Given the description of an element on the screen output the (x, y) to click on. 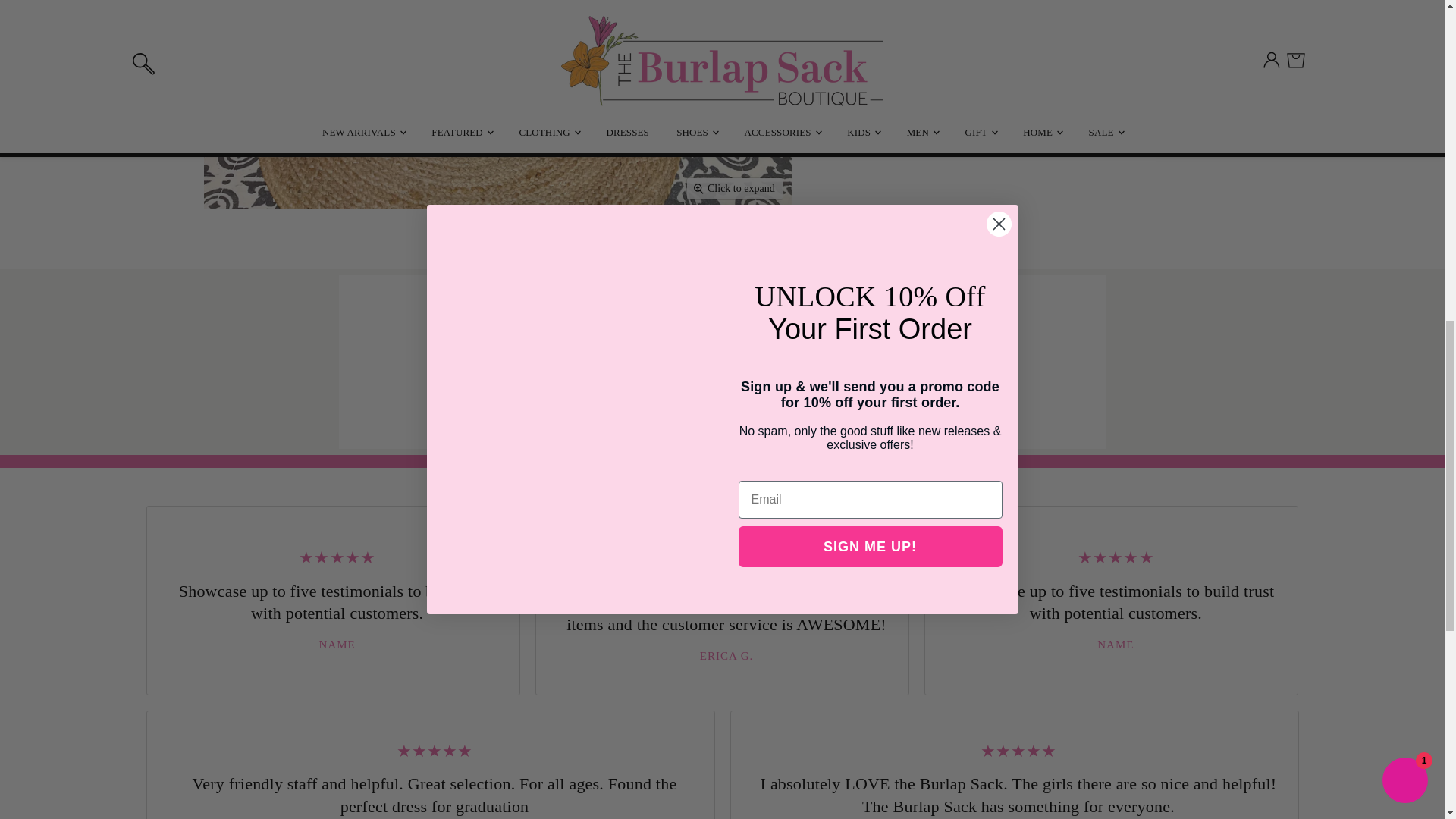
Chat icon (914, 326)
Visit the Store (529, 415)
